Given the description of an element on the screen output the (x, y) to click on. 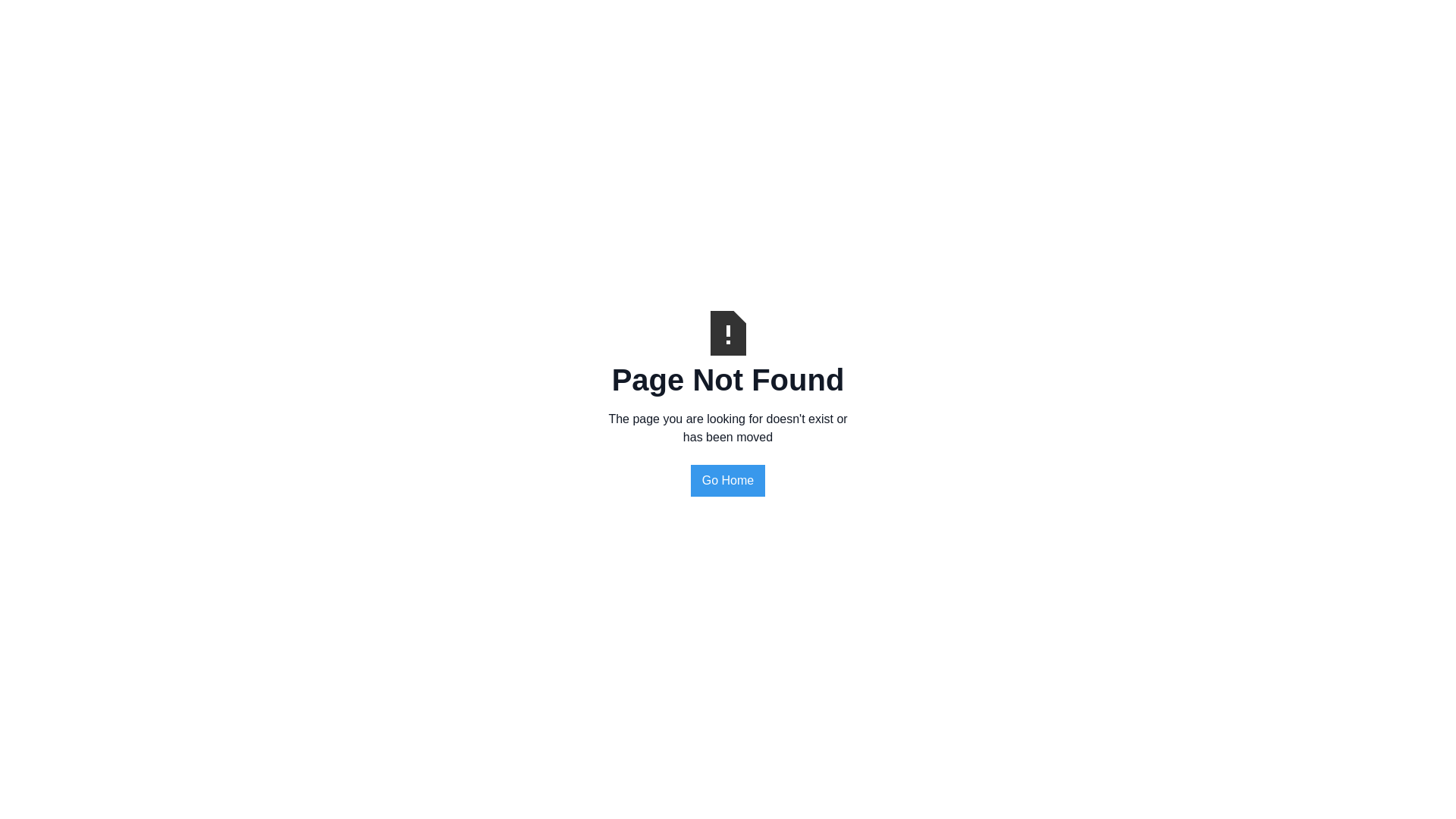
Go Home Element type: text (727, 480)
